Given the description of an element on the screen output the (x, y) to click on. 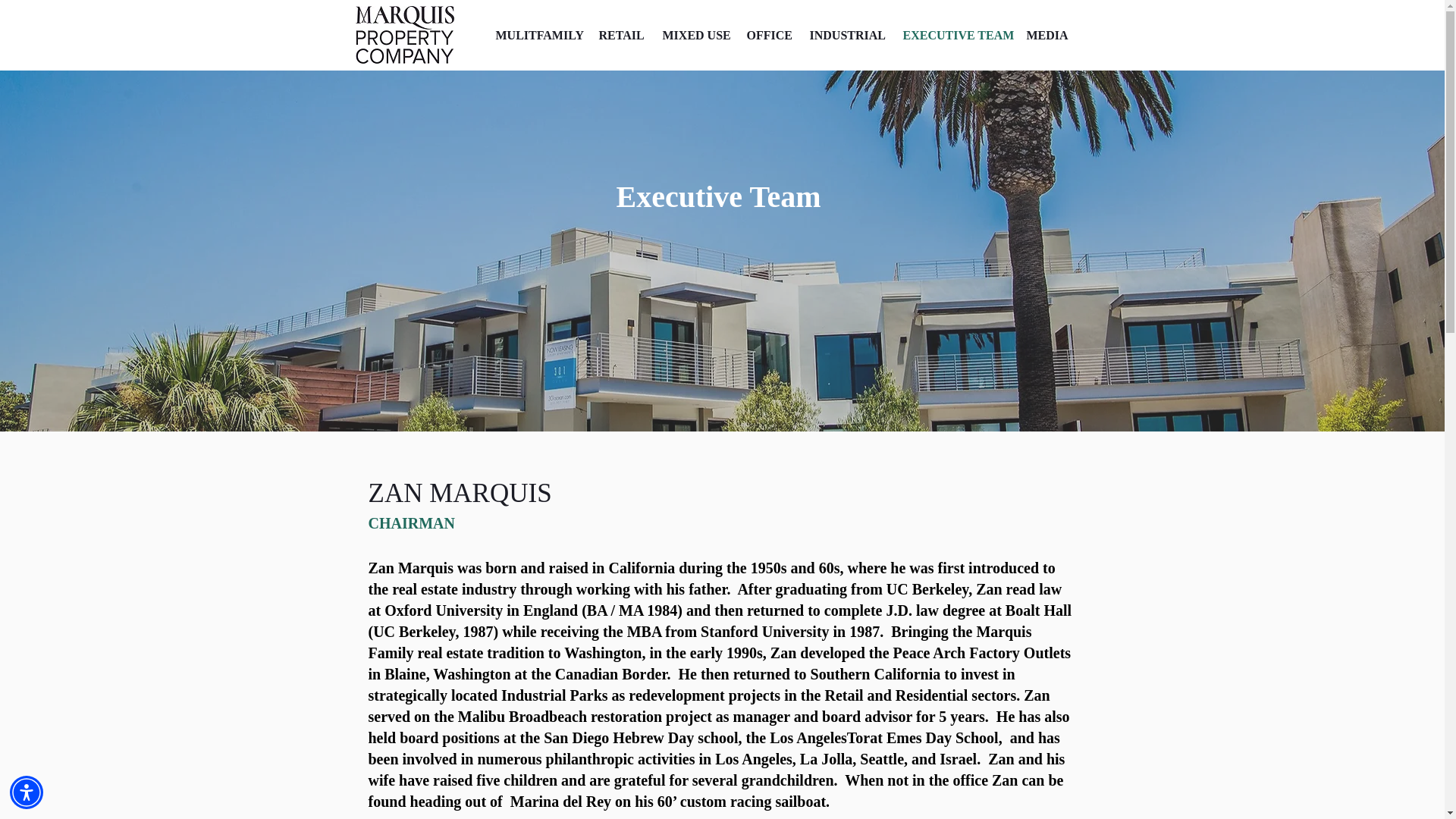
MEDIA (1044, 34)
EXECUTIVE TEAM (952, 34)
Accessibility Menu (26, 792)
